Given the description of an element on the screen output the (x, y) to click on. 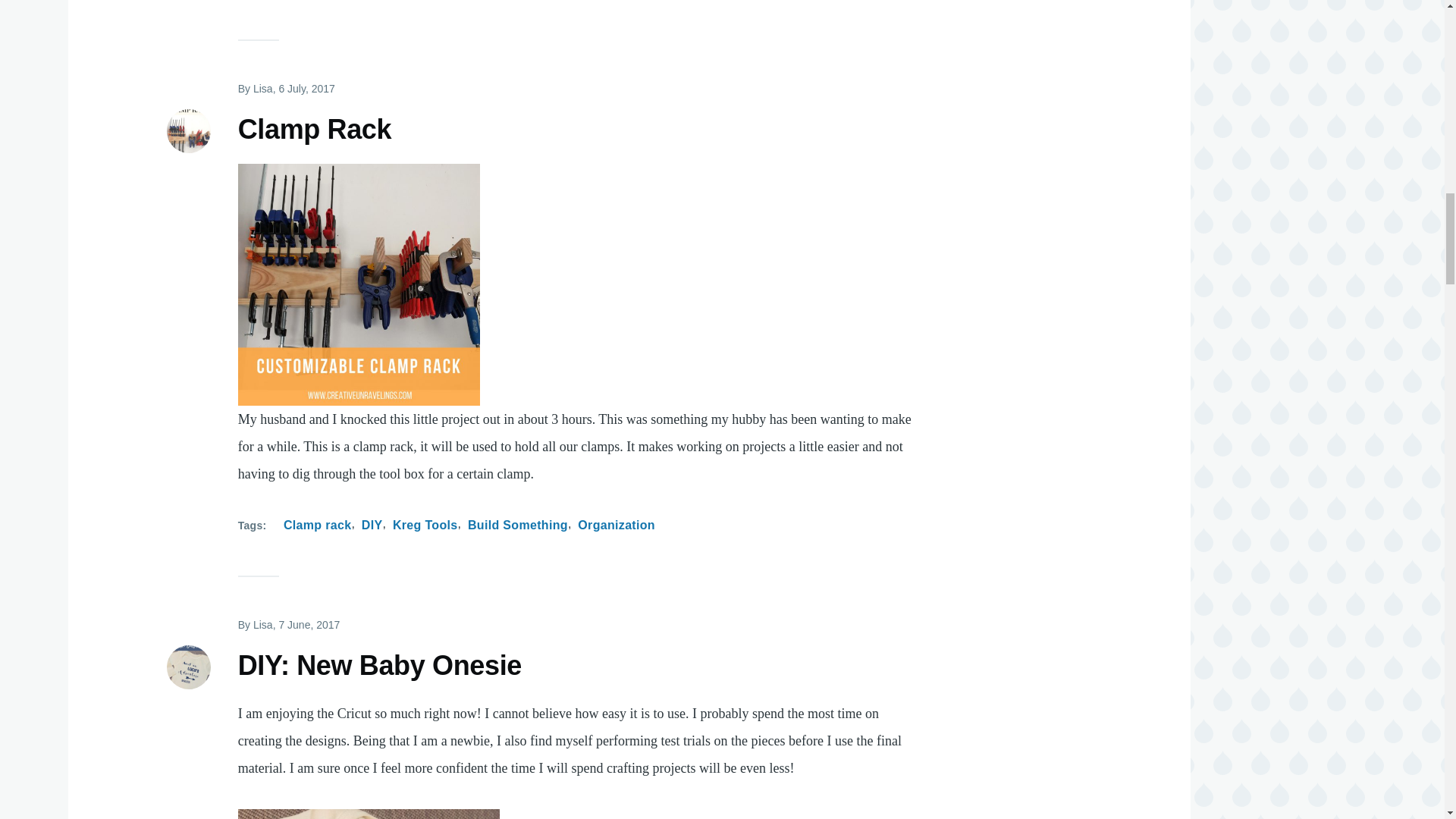
DIY: New Baby Onesie (379, 666)
Kreg Tools (425, 525)
DIY (371, 525)
Build Something (517, 525)
Clamp rack (316, 525)
Organization (616, 525)
Clamp Rack (314, 130)
